Given the description of an element on the screen output the (x, y) to click on. 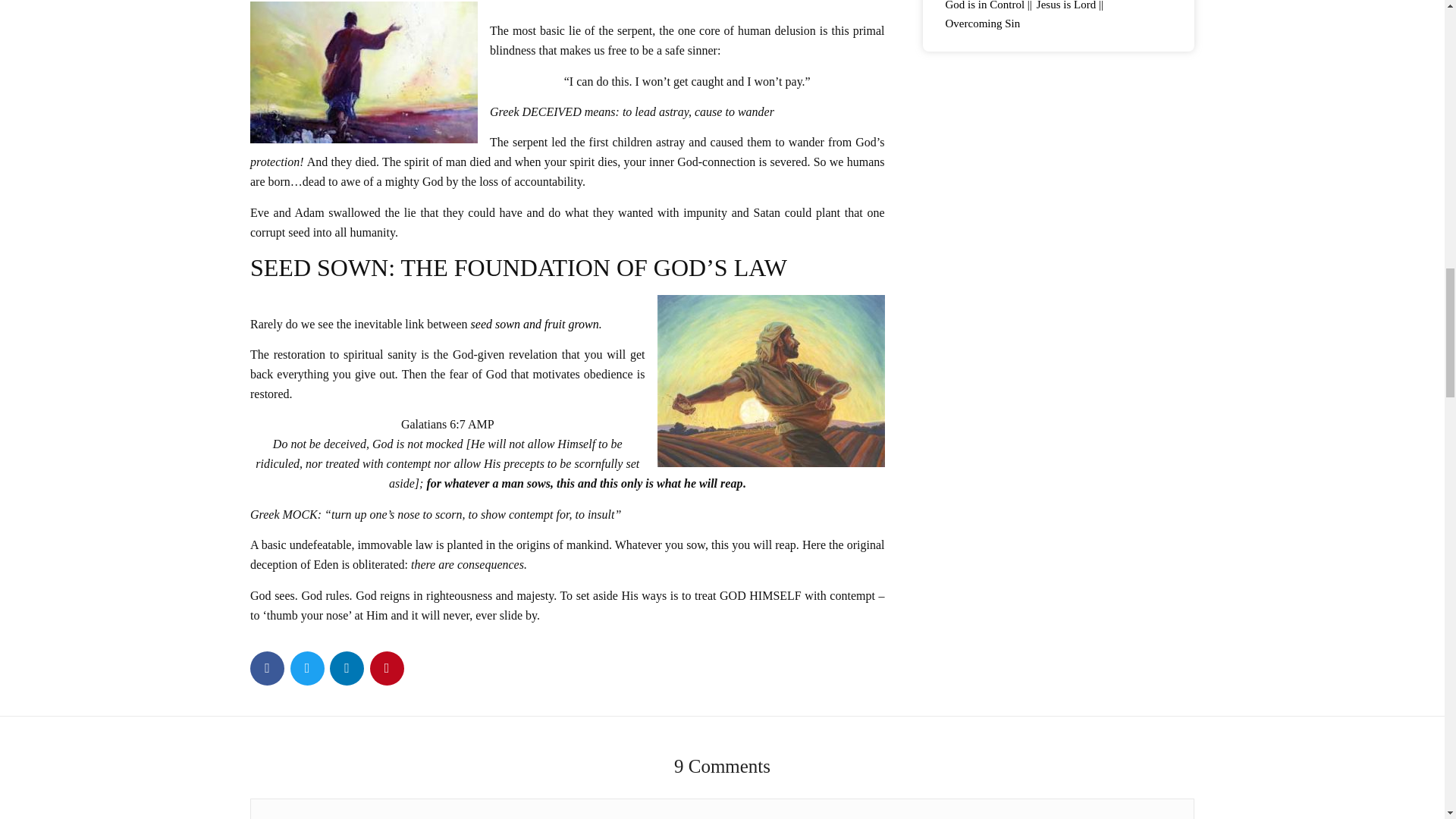
seed sown and fruit grown (534, 323)
Overcoming Sin (984, 22)
